Given the description of an element on the screen output the (x, y) to click on. 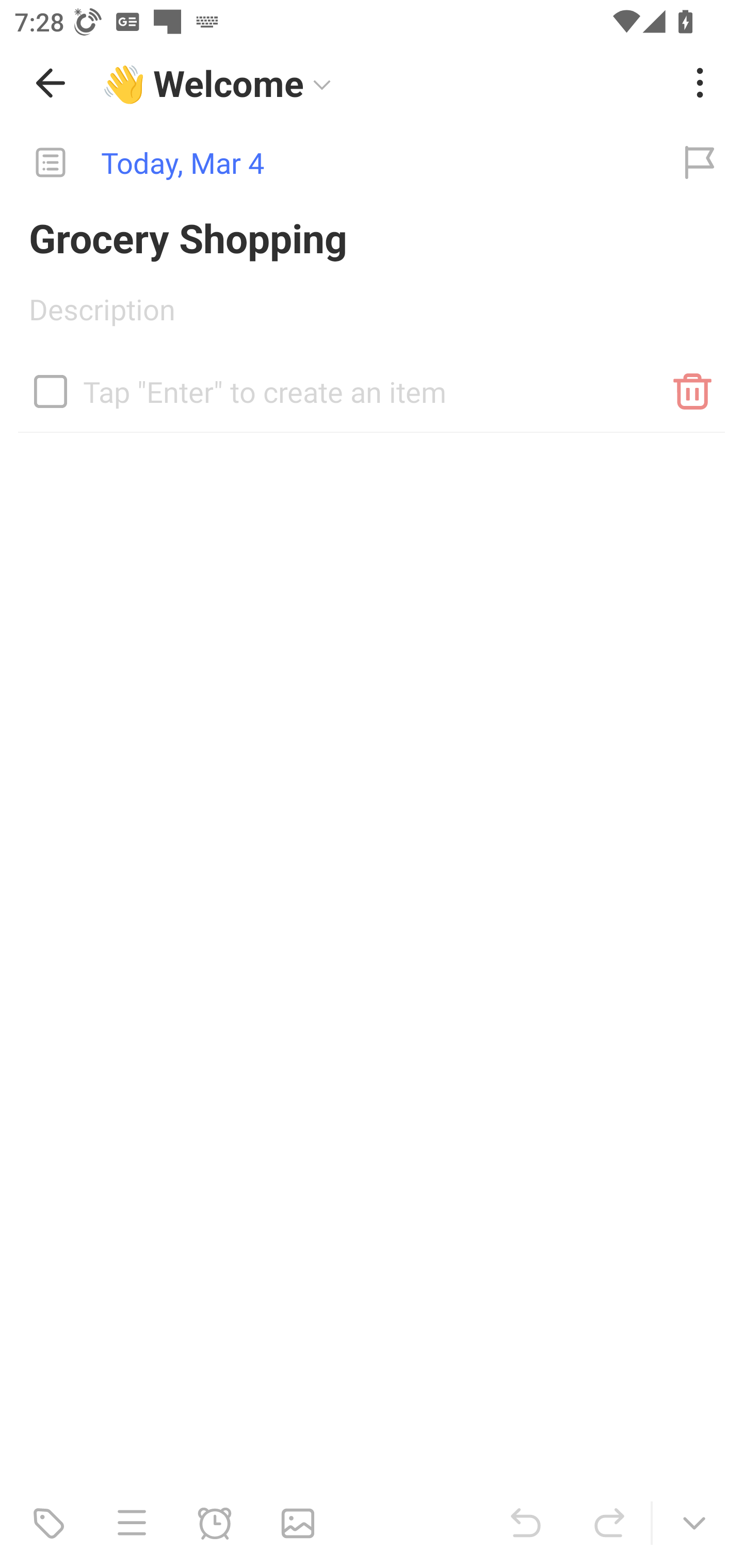
👋 Welcome (384, 82)
Today, Mar 4  (328, 163)
Grocery Shopping (371, 237)
Description (371, 315)
  (50, 390)
Tap "Enter" to create an item (371, 383)
